Given the description of an element on the screen output the (x, y) to click on. 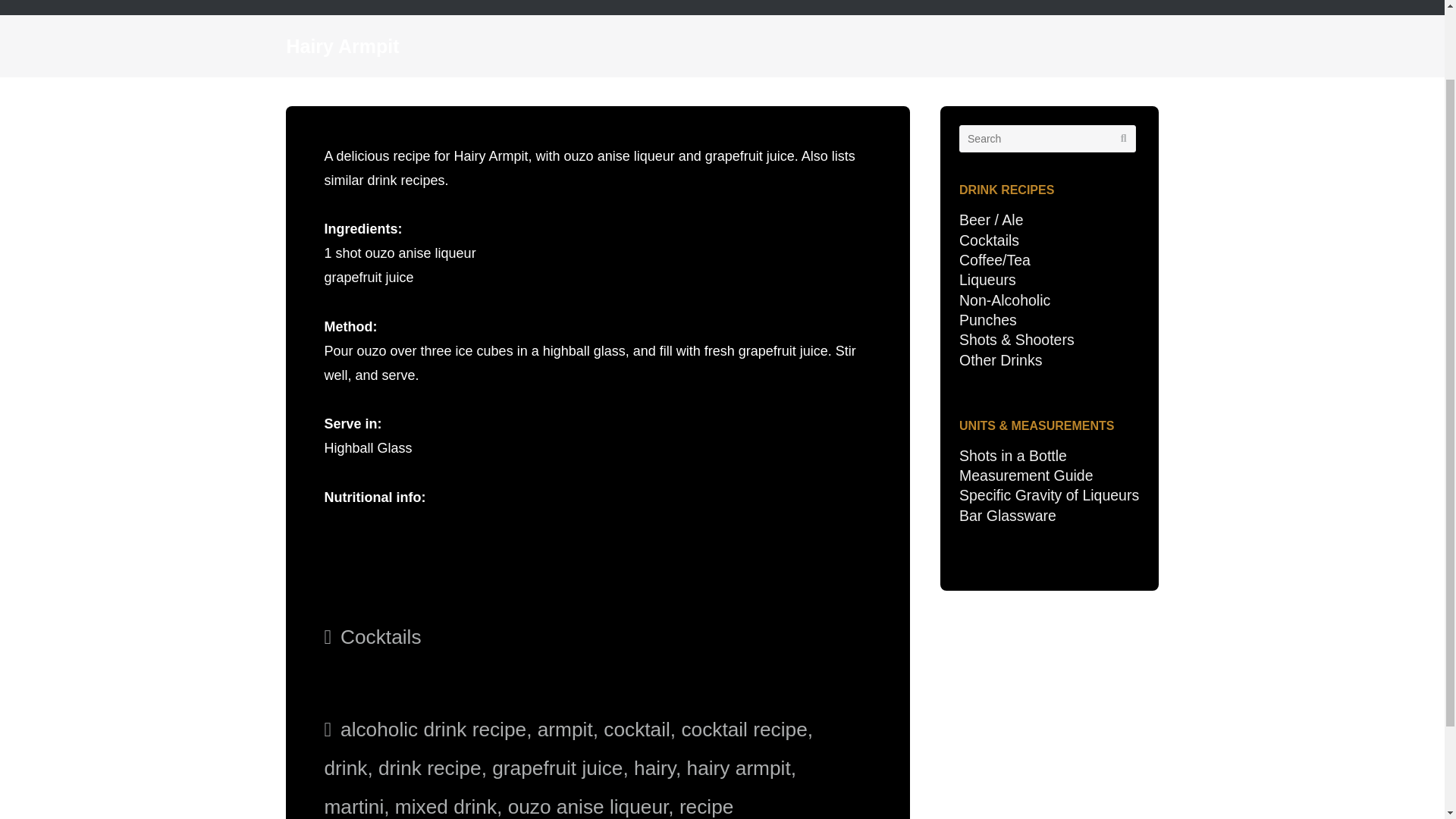
recipe (706, 806)
hairy (654, 767)
alcoholic drink recipe (432, 729)
Bar Glassware (1008, 515)
Other Drinks (1000, 360)
cocktail (636, 729)
martini (353, 806)
drink (344, 767)
mixed drink (445, 806)
Cocktails (381, 636)
